Given the description of an element on the screen output the (x, y) to click on. 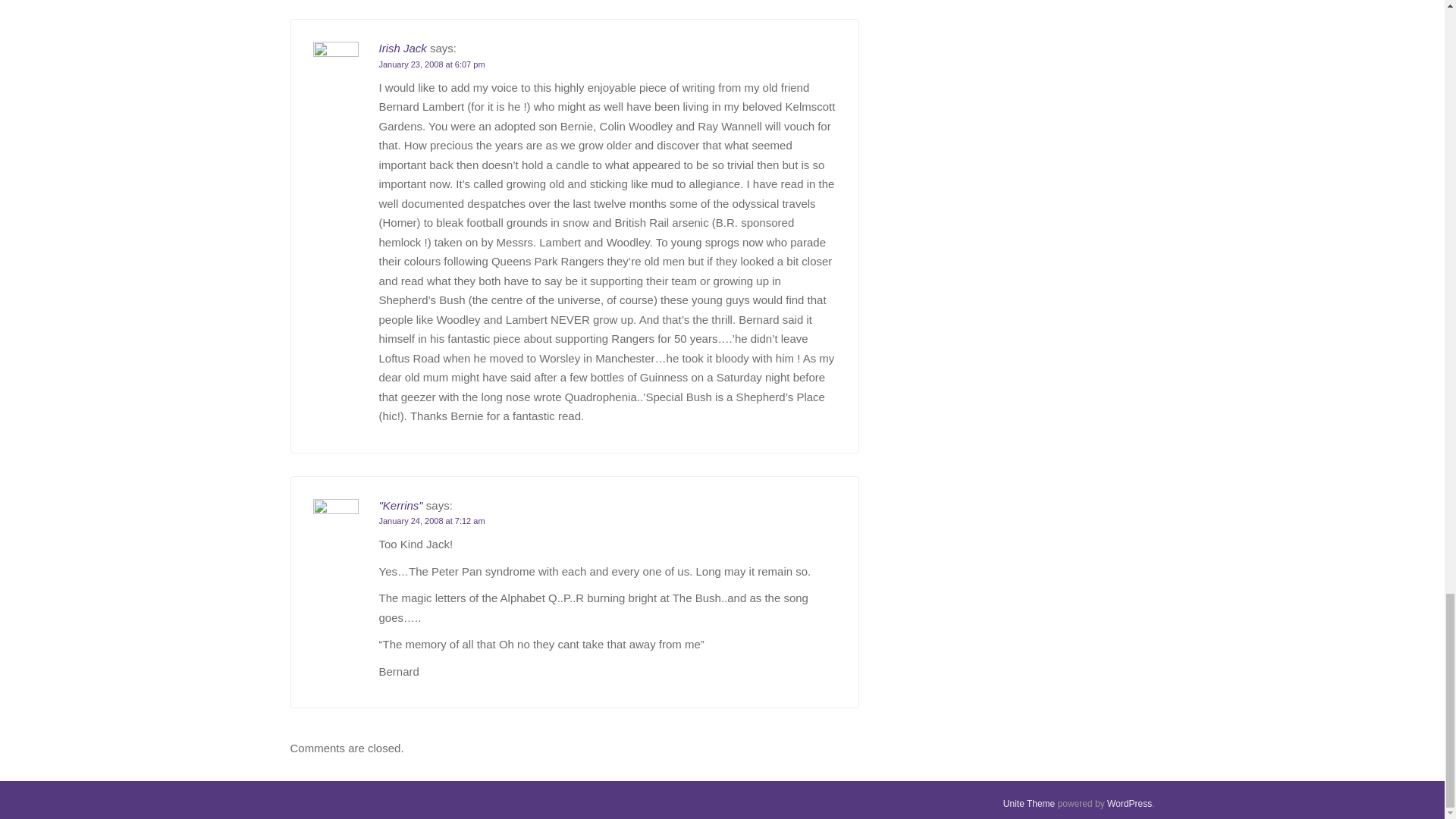
"Kerrins" (400, 504)
Irish Jack (402, 47)
January 23, 2008 at 6:07 pm (431, 63)
January 24, 2008 at 7:12 am (431, 520)
Unite Theme (1028, 803)
